Given the description of an element on the screen output the (x, y) to click on. 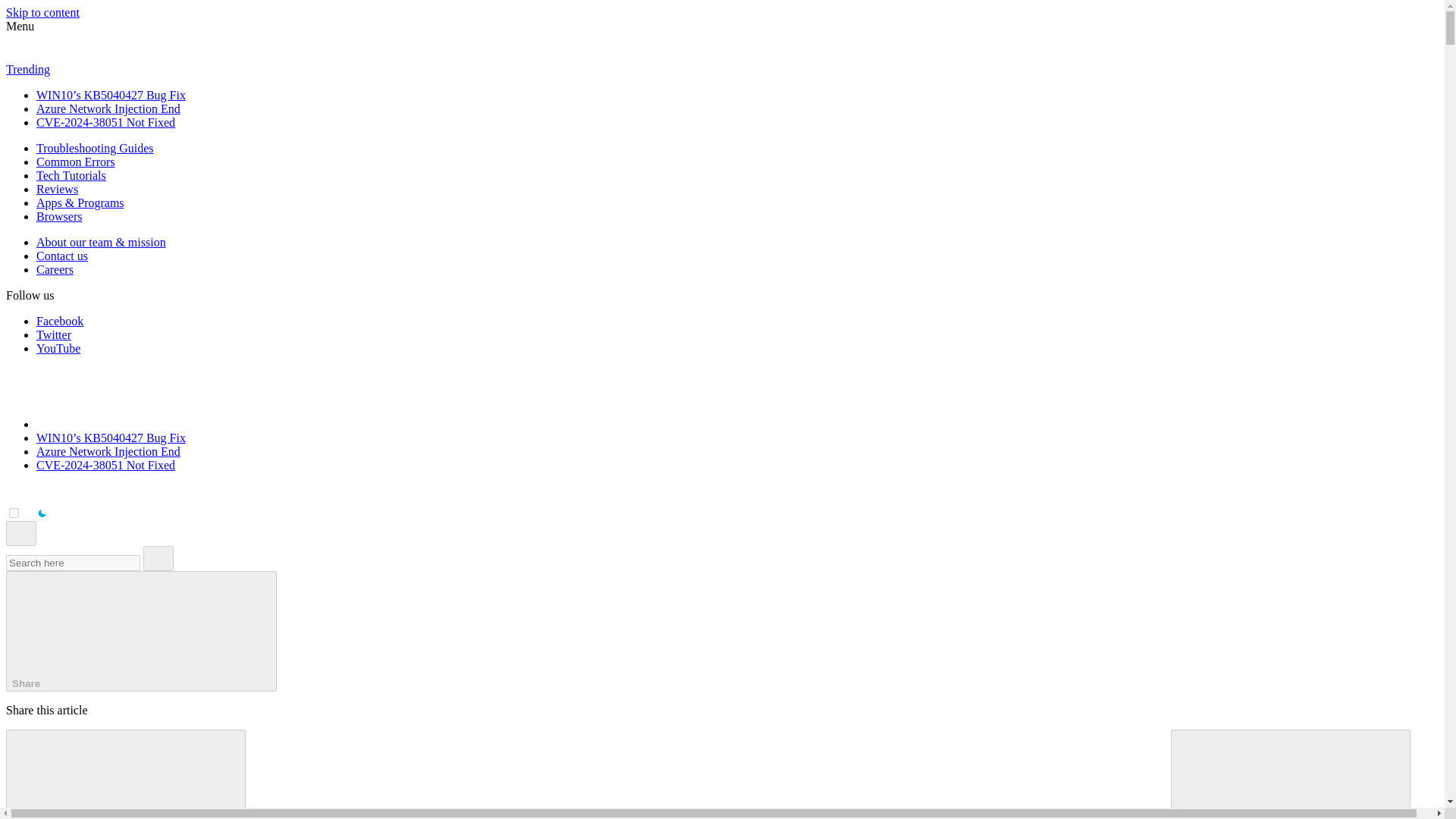
Facebook (59, 320)
Twitter (53, 334)
YouTube (58, 348)
Share (140, 630)
Browsers (58, 215)
CVE-2024-38051 Not Fixed (105, 464)
Skip to content (42, 11)
Open search bar (20, 533)
Share this article (140, 630)
Azure Network Injection End (108, 451)
Reviews (57, 188)
Tech Tutorials (71, 174)
on (13, 512)
Contact us (61, 255)
Careers (55, 269)
